Given the description of an element on the screen output the (x, y) to click on. 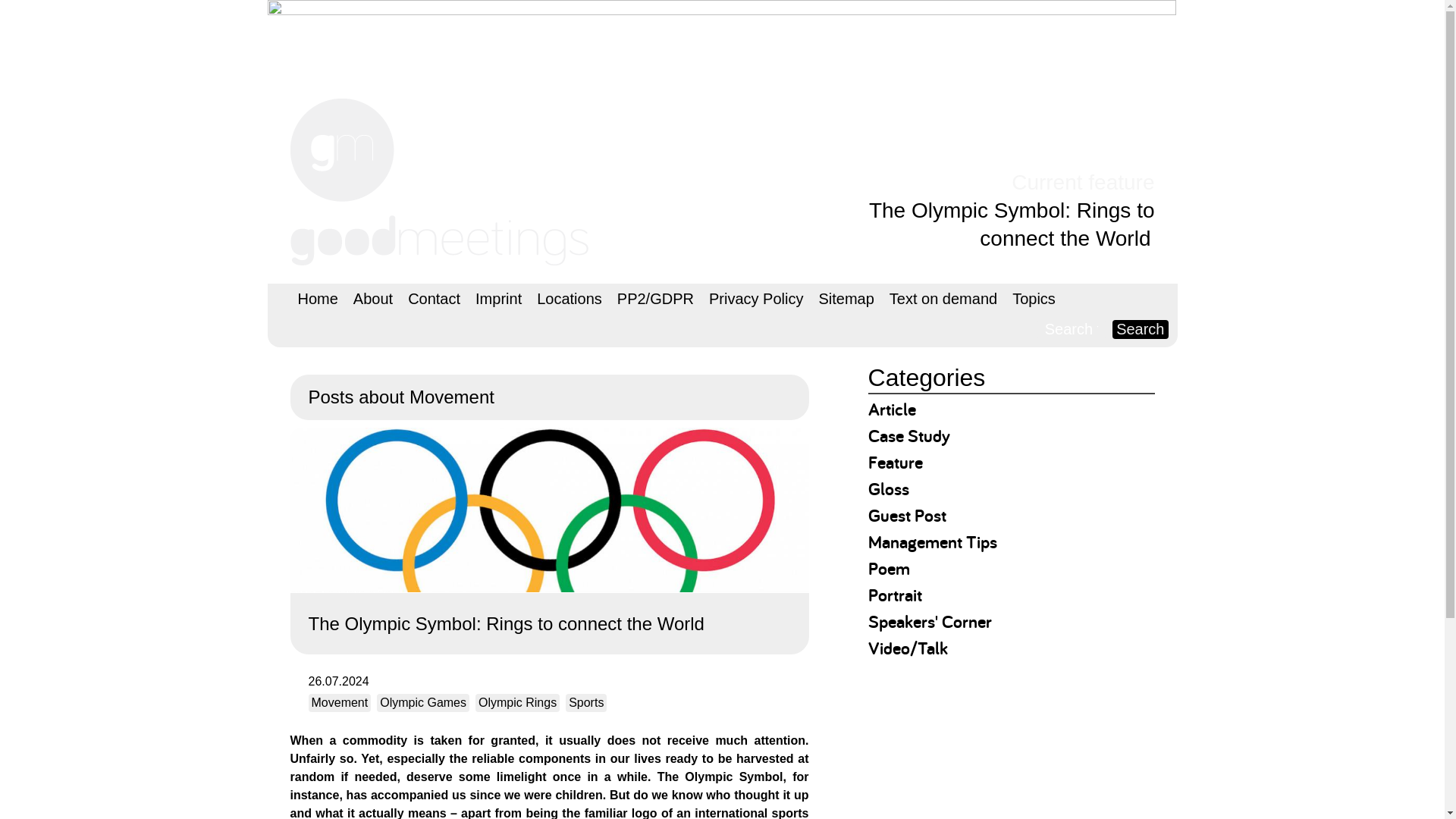
Imprint (498, 298)
Olympic Rings (517, 702)
The Olympic Symbol: Rings to connect the World (548, 540)
Text on demand (943, 298)
Privacy Policy (755, 298)
Gloss (887, 488)
Topics (1033, 298)
Locations (569, 298)
Case Study (908, 435)
Olympic Games (422, 702)
